Given the description of an element on the screen output the (x, y) to click on. 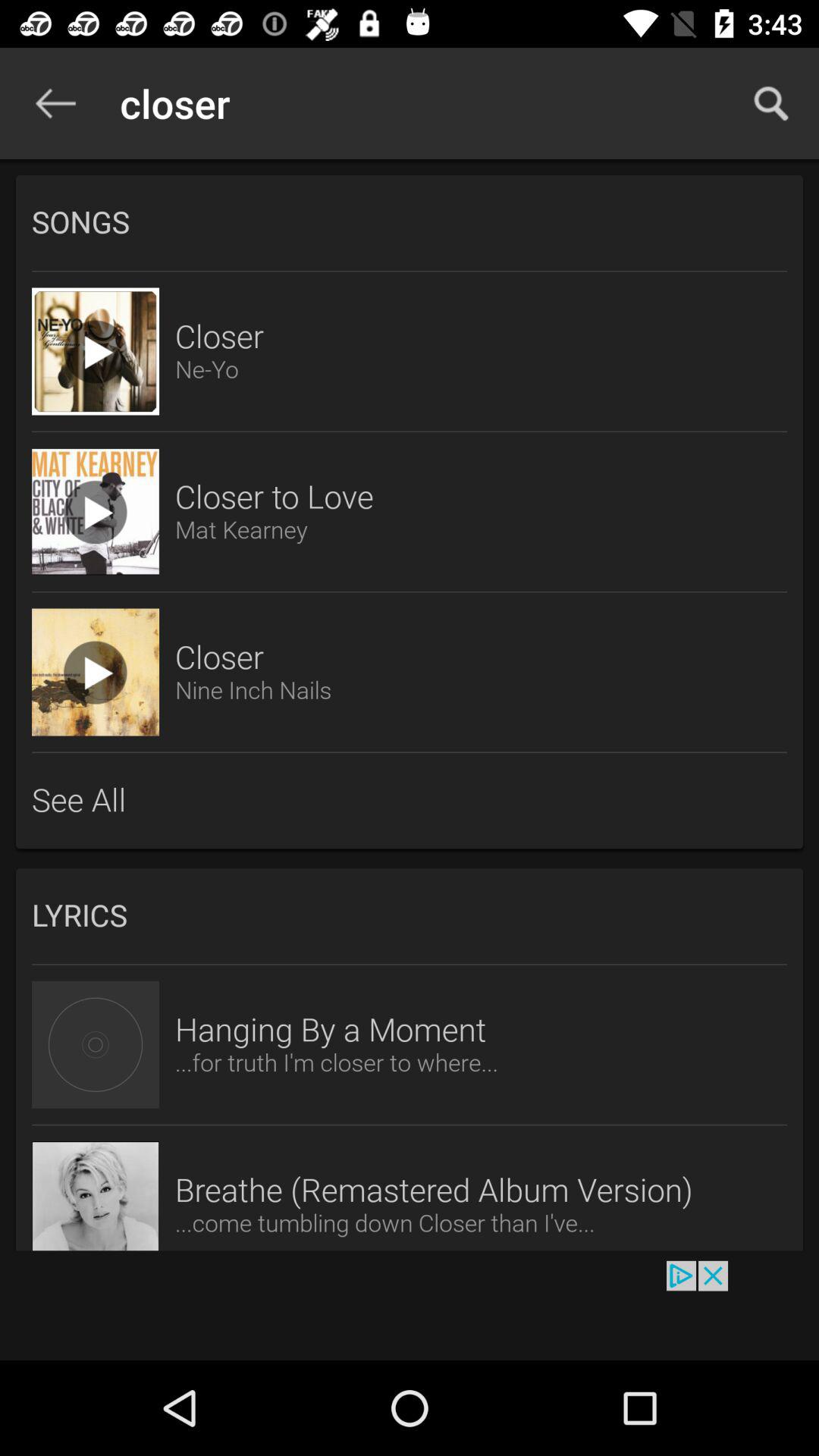
scroll until lyrics icon (409, 916)
